Given the description of an element on the screen output the (x, y) to click on. 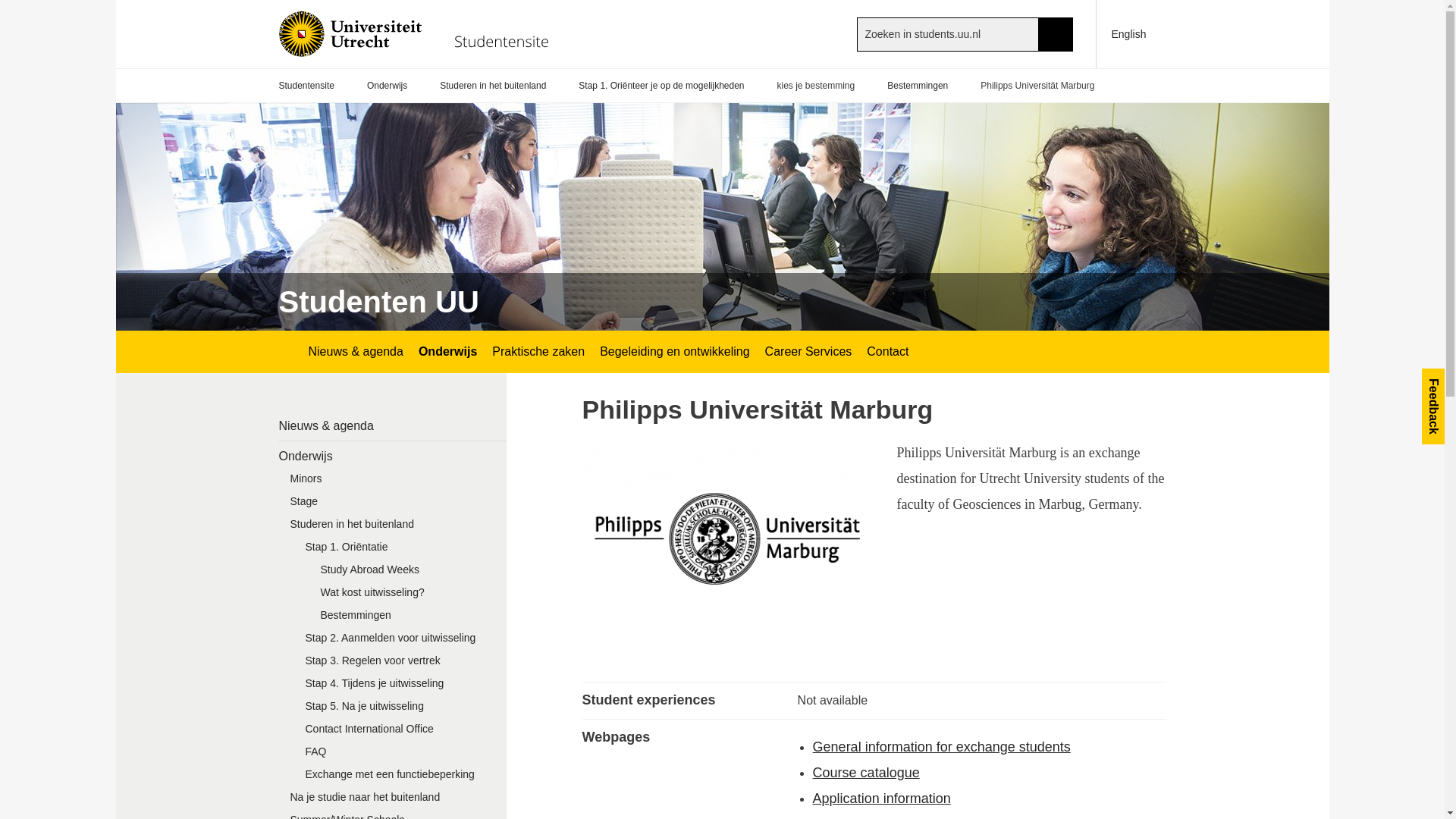
Home (421, 33)
Begeleiding en ontwikkeling (674, 351)
Study Abroad Weeks (407, 572)
Studenten UU (379, 301)
Wat kost uitwisseling? (407, 595)
Studeren in het buitenland (492, 85)
Stap 2. Aanmelden voor uitwisseling (400, 640)
Studentensite (306, 85)
Onderwijs (447, 351)
Onderwijs (392, 455)
Minors (392, 481)
Contact (887, 351)
Stap 3. Regelen voor vertrek (400, 663)
Bestemmingen (407, 618)
Stap 5. Na je uitwisseling (400, 709)
